Given the description of an element on the screen output the (x, y) to click on. 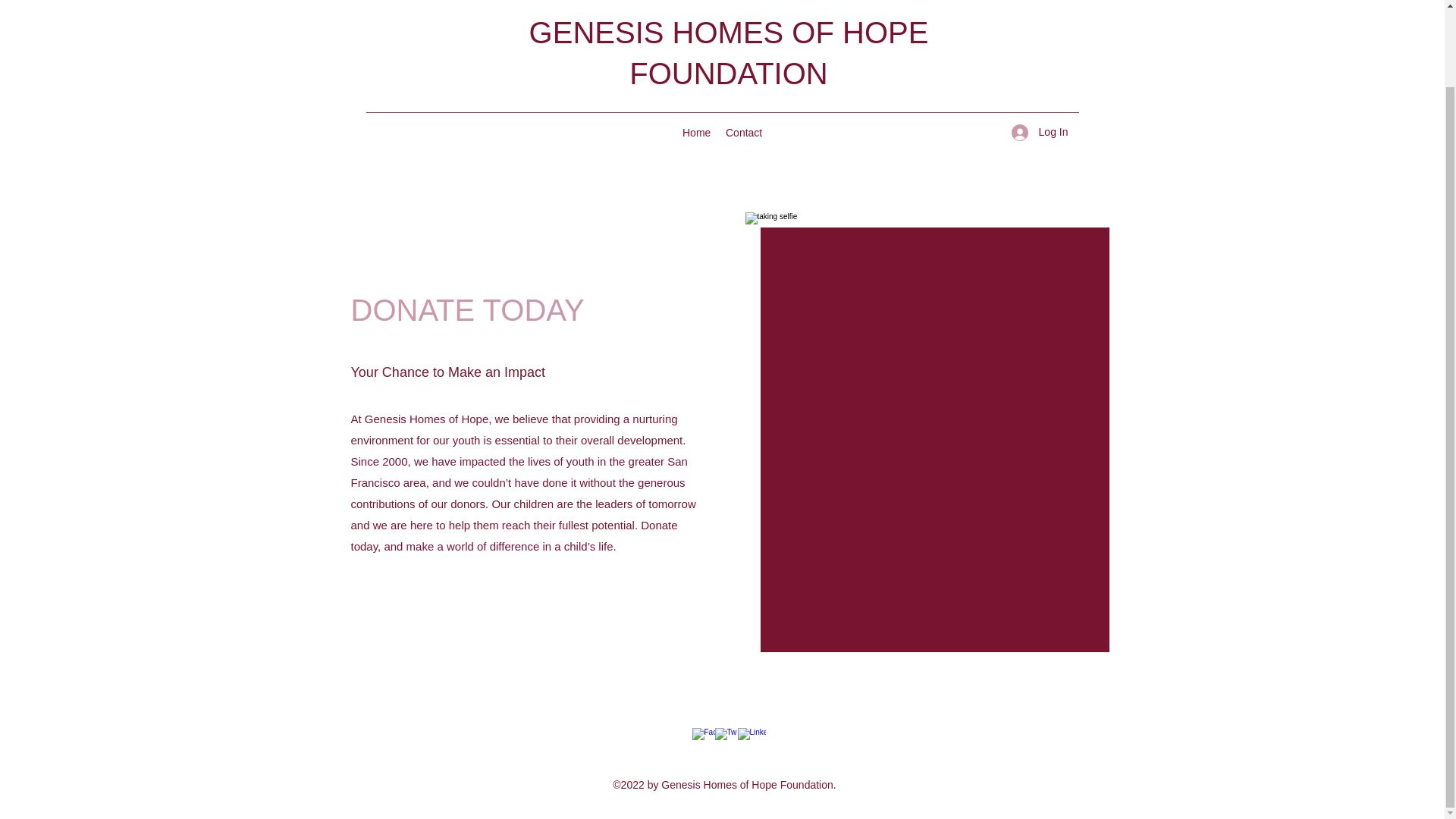
Home (696, 132)
Log In (1039, 131)
GENESIS HOMES OF HOPE FOUNDATION (728, 52)
Contact (743, 132)
